Given the description of an element on the screen output the (x, y) to click on. 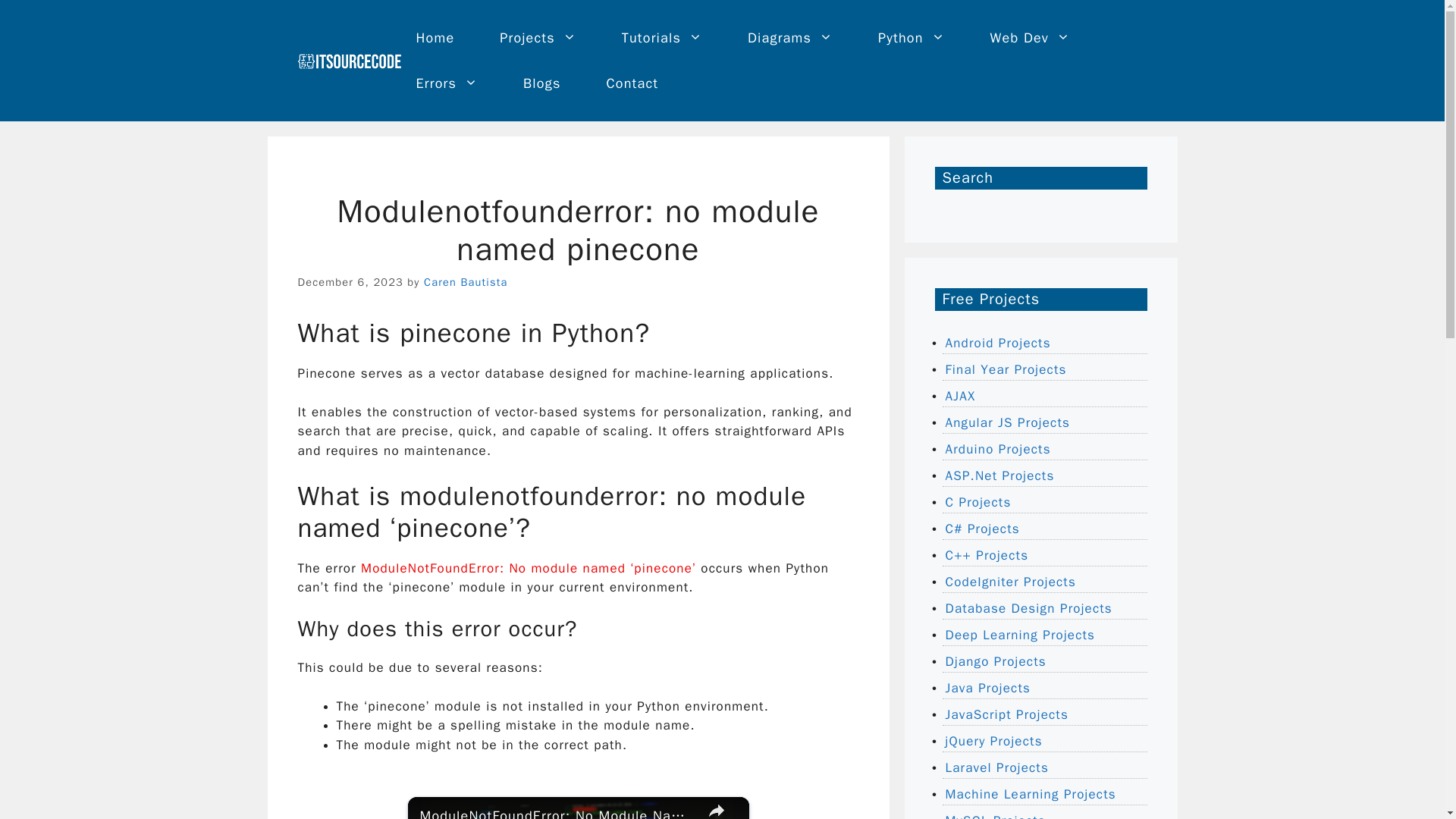
share (716, 807)
Home (435, 37)
Diagrams (789, 37)
Projects (537, 37)
Python (911, 37)
View all posts by Caren Bautista (464, 282)
Tutorials (662, 37)
